Given the description of an element on the screen output the (x, y) to click on. 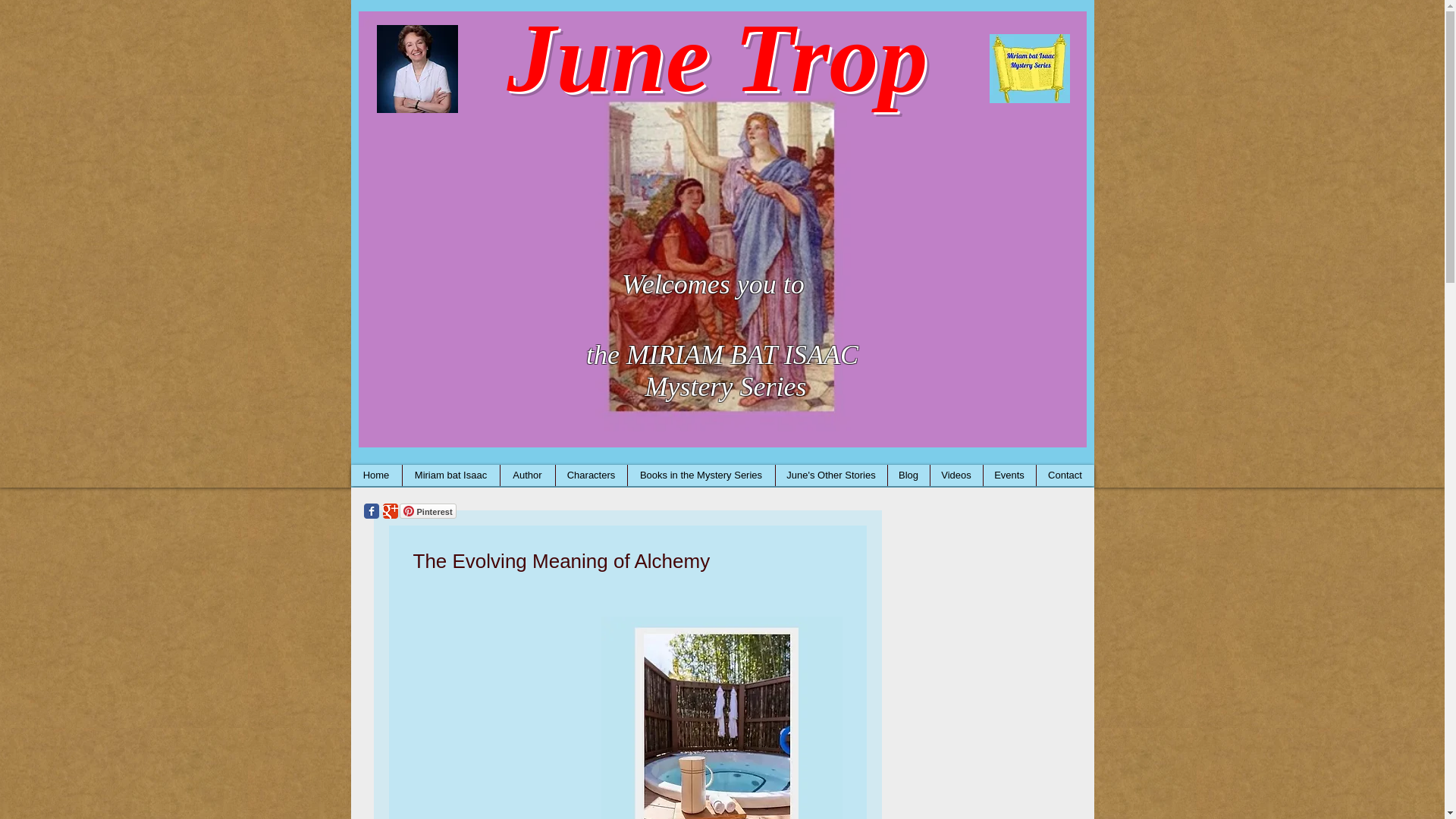
Videos (956, 475)
Books in the Mystery Series (700, 475)
Blog (908, 475)
Home (375, 475)
Characters (590, 475)
Author (526, 475)
June's Other Stories (830, 475)
Events (1008, 475)
Contact (1064, 475)
Pinterest (426, 510)
Miriam bat Isaac (450, 475)
